Given the description of an element on the screen output the (x, y) to click on. 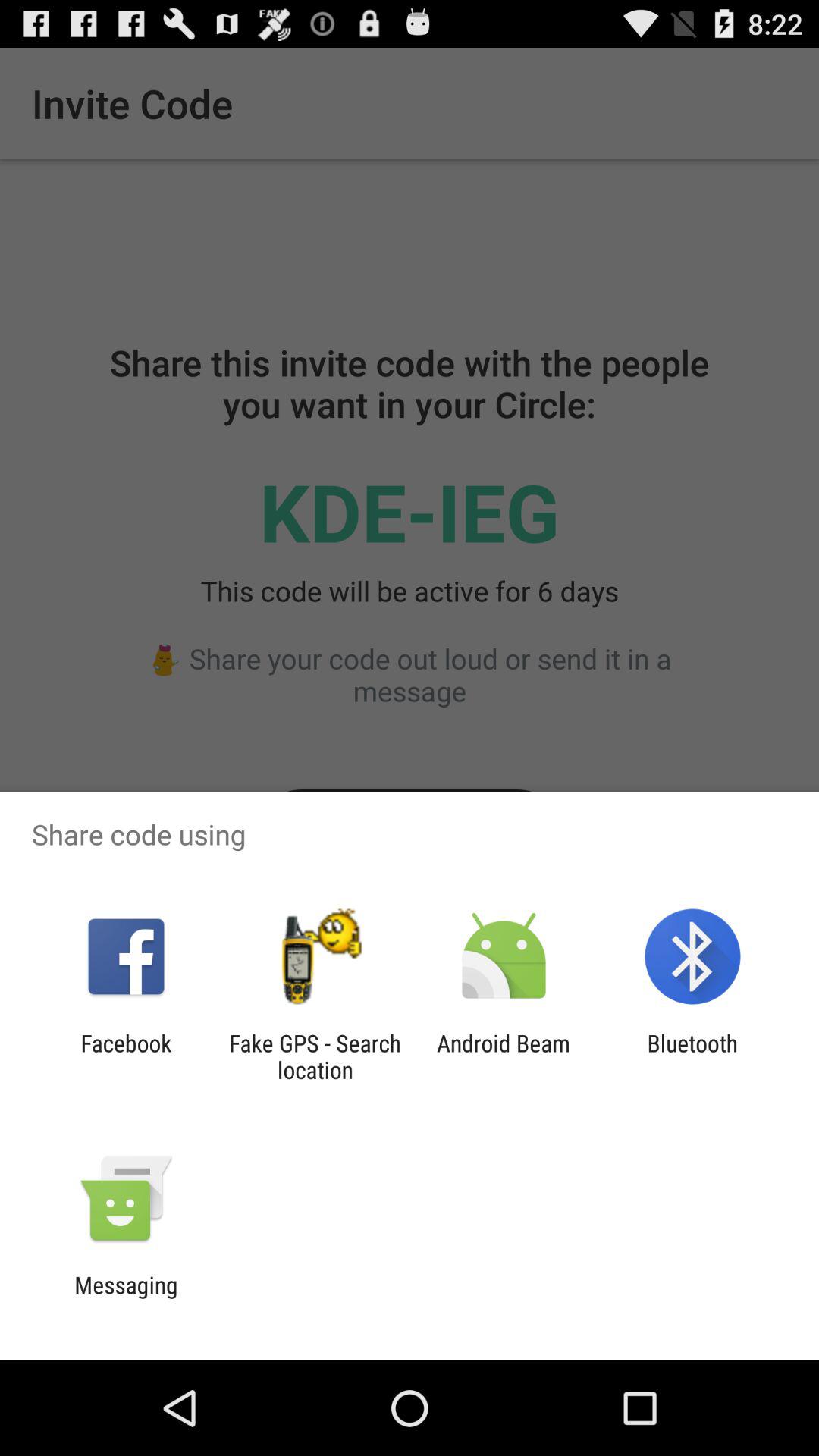
tap item next to the android beam app (692, 1056)
